Given the description of an element on the screen output the (x, y) to click on. 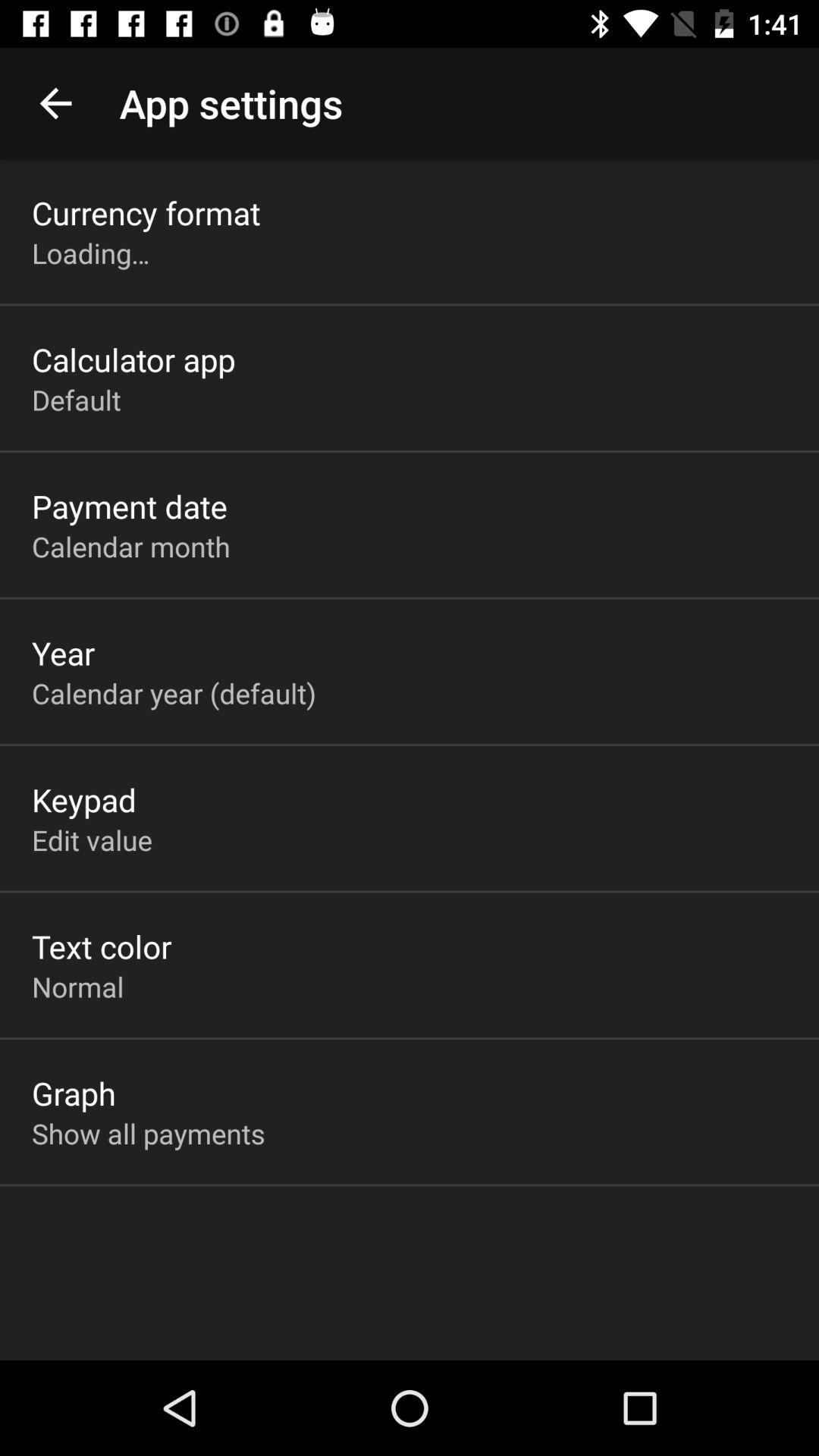
launch the graph item (73, 1092)
